Given the description of an element on the screen output the (x, y) to click on. 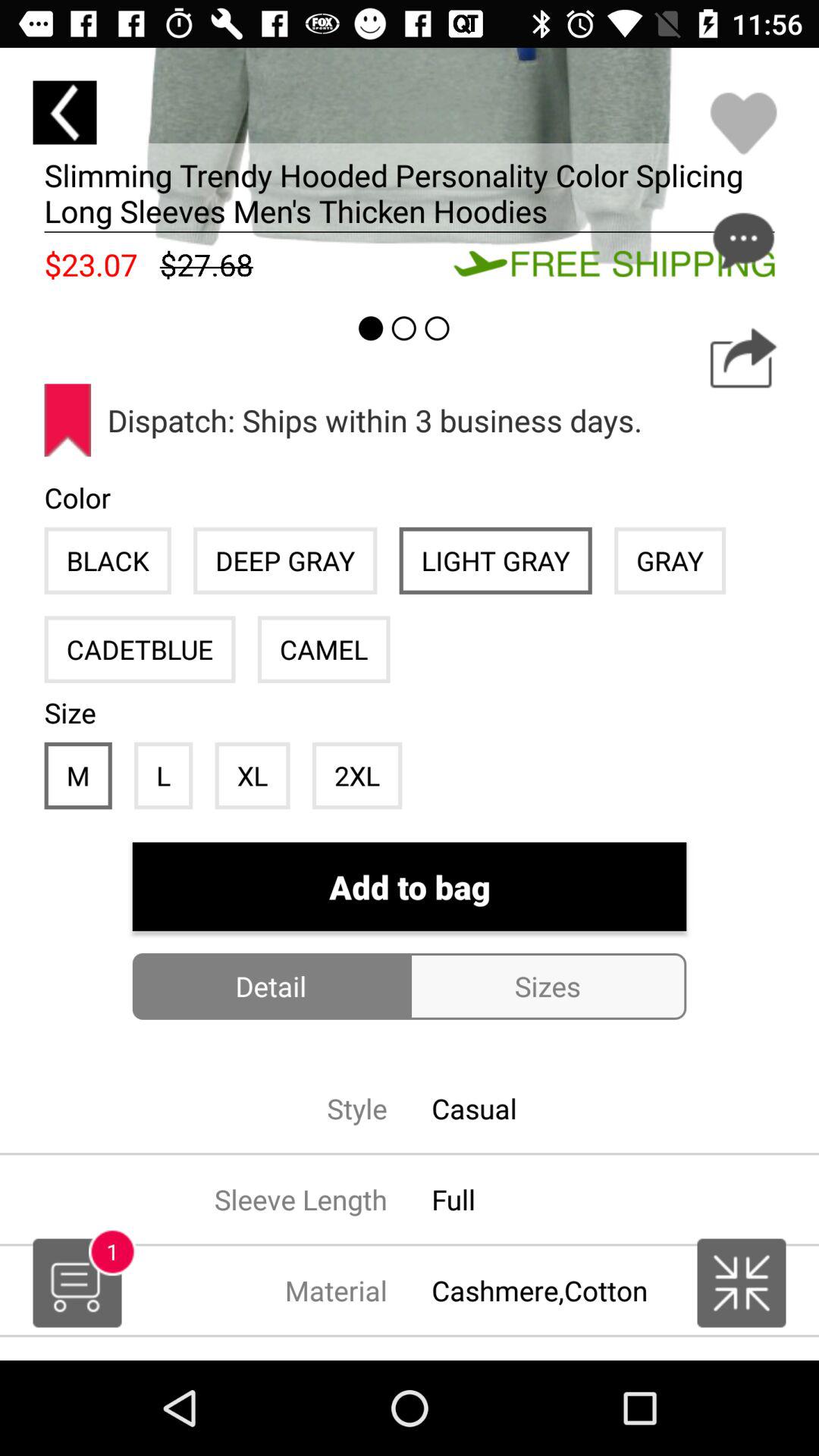
choose add to bag (409, 887)
